Given the description of an element on the screen output the (x, y) to click on. 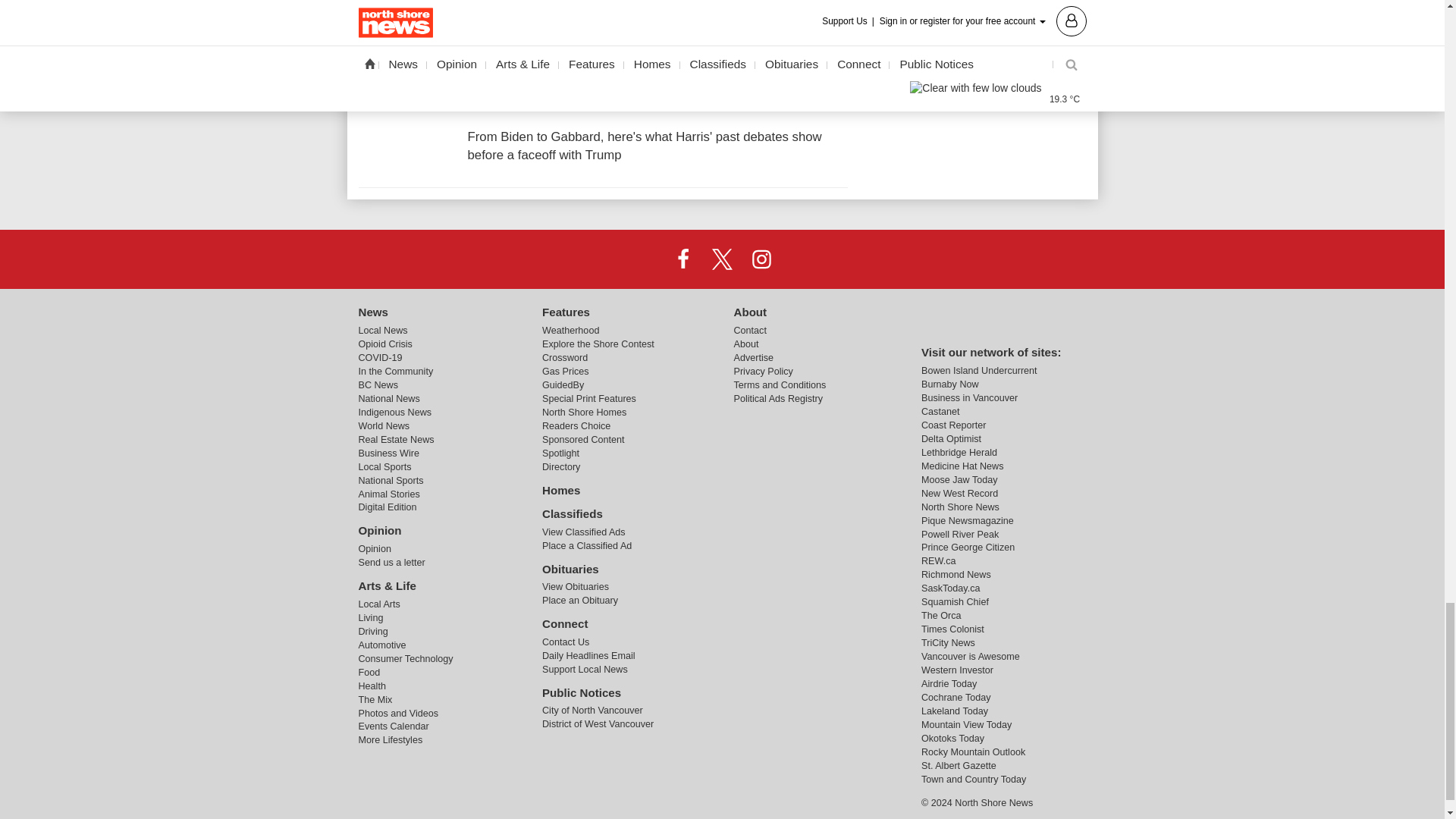
Facebook (683, 258)
Instagram (760, 258)
X (721, 258)
